Given the description of an element on the screen output the (x, y) to click on. 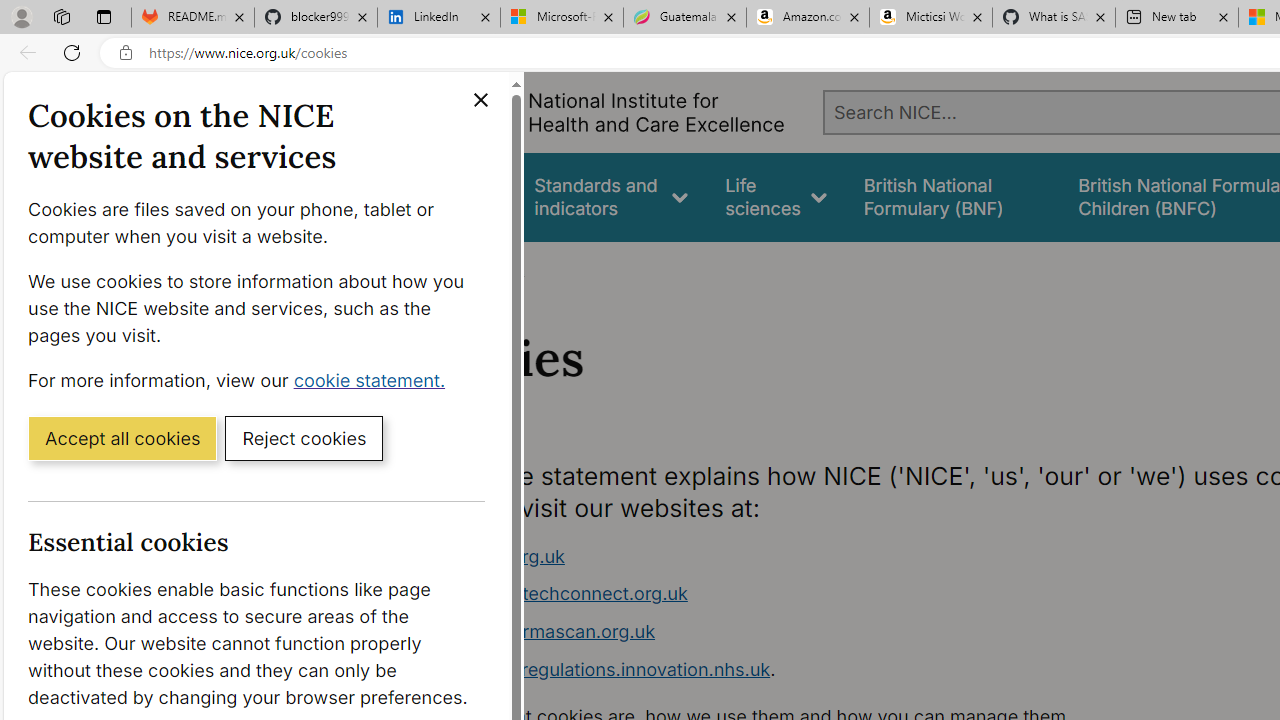
Life sciences (776, 196)
LinkedIn (438, 17)
cookie statement. (Opens in a new window) (373, 379)
www.digitalregulations.innovation.nhs.uk (595, 668)
About (498, 268)
www.ukpharmascan.org.uk (538, 631)
www.healthtechconnect.org.uk (554, 593)
Guidance (458, 196)
